Given the description of an element on the screen output the (x, y) to click on. 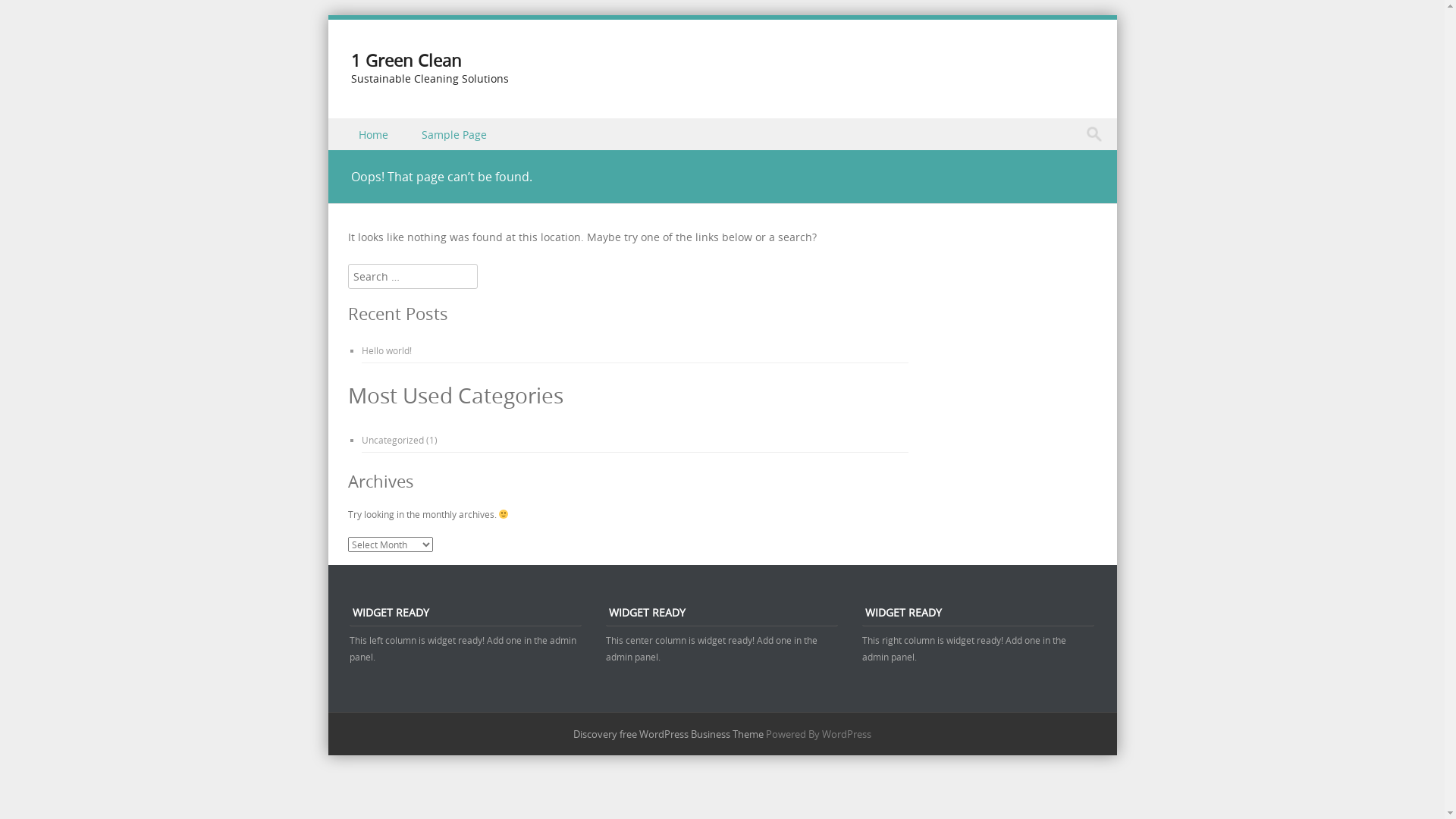
Hello world! Element type: text (385, 350)
Search for: Element type: hover (1097, 133)
Sample Page Element type: text (455, 134)
Discovery free WordPress Business Theme Element type: text (668, 733)
Skip to content Element type: text (365, 127)
Uncategorized Element type: text (391, 439)
Search Element type: text (26, 14)
Menu Element type: text (355, 151)
1 Green Clean Element type: text (405, 60)
Home Element type: text (373, 134)
